Given the description of an element on the screen output the (x, y) to click on. 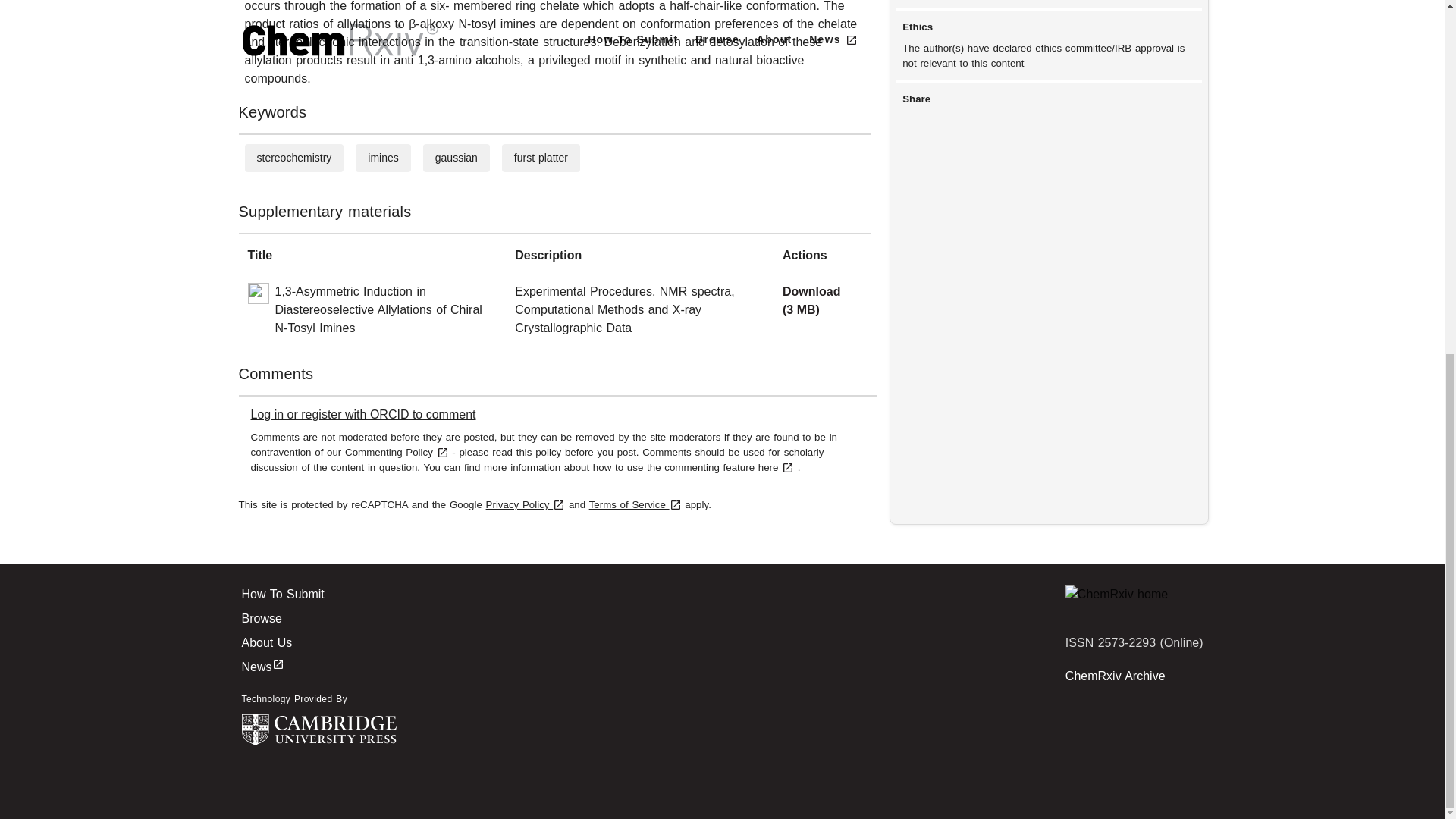
furst platter (540, 157)
gaussian (456, 157)
stereochemistry (293, 157)
imines (382, 157)
Log in or register with ORCID to comment (363, 414)
